Given the description of an element on the screen output the (x, y) to click on. 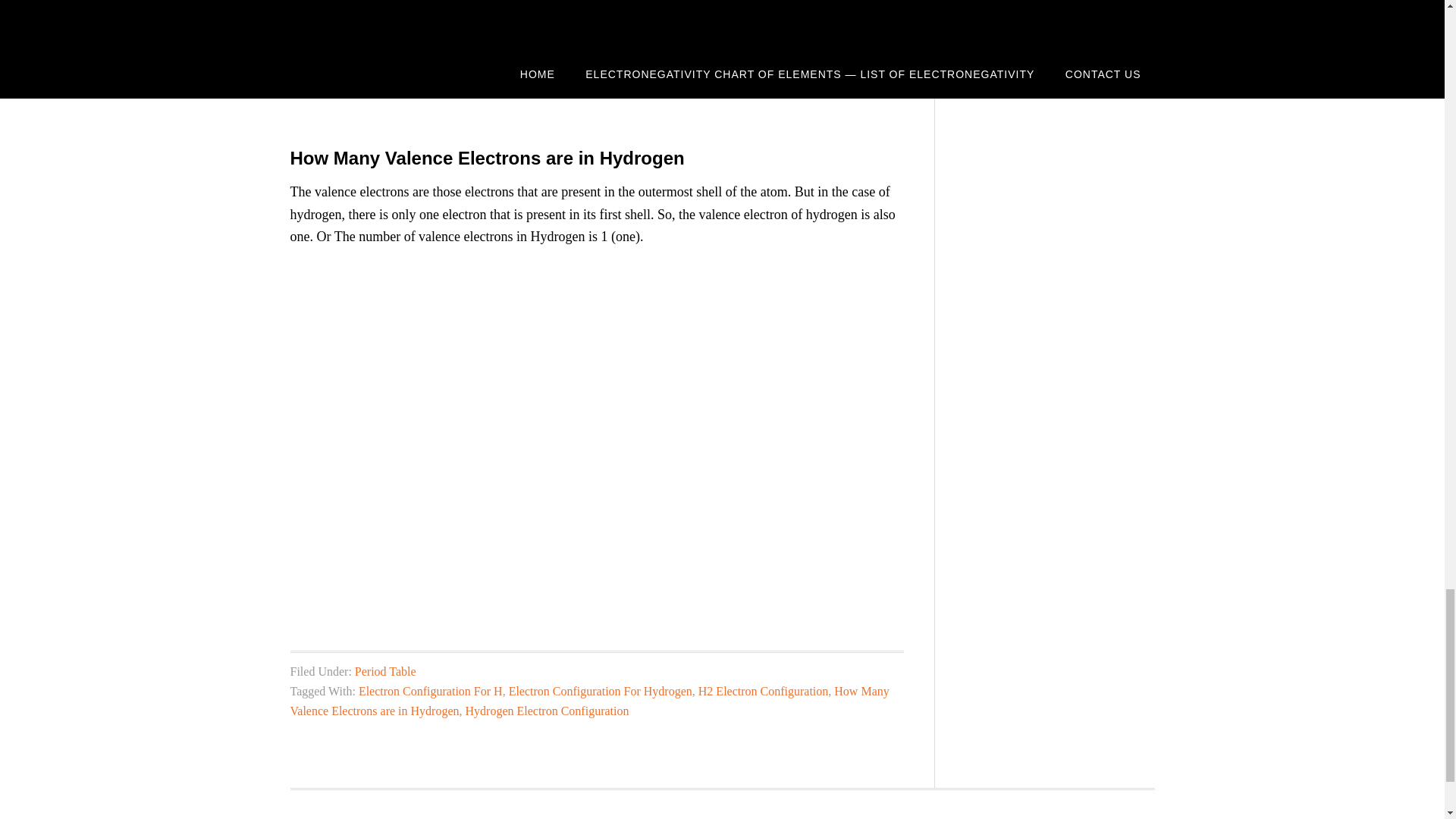
Electron Configuration For Hydrogen (600, 690)
Period Table (385, 671)
H2 Electron Configuration (763, 690)
How Many Valence Electrons are in Hydrogen (588, 700)
Electron Configuration For H (430, 690)
